Given the description of an element on the screen output the (x, y) to click on. 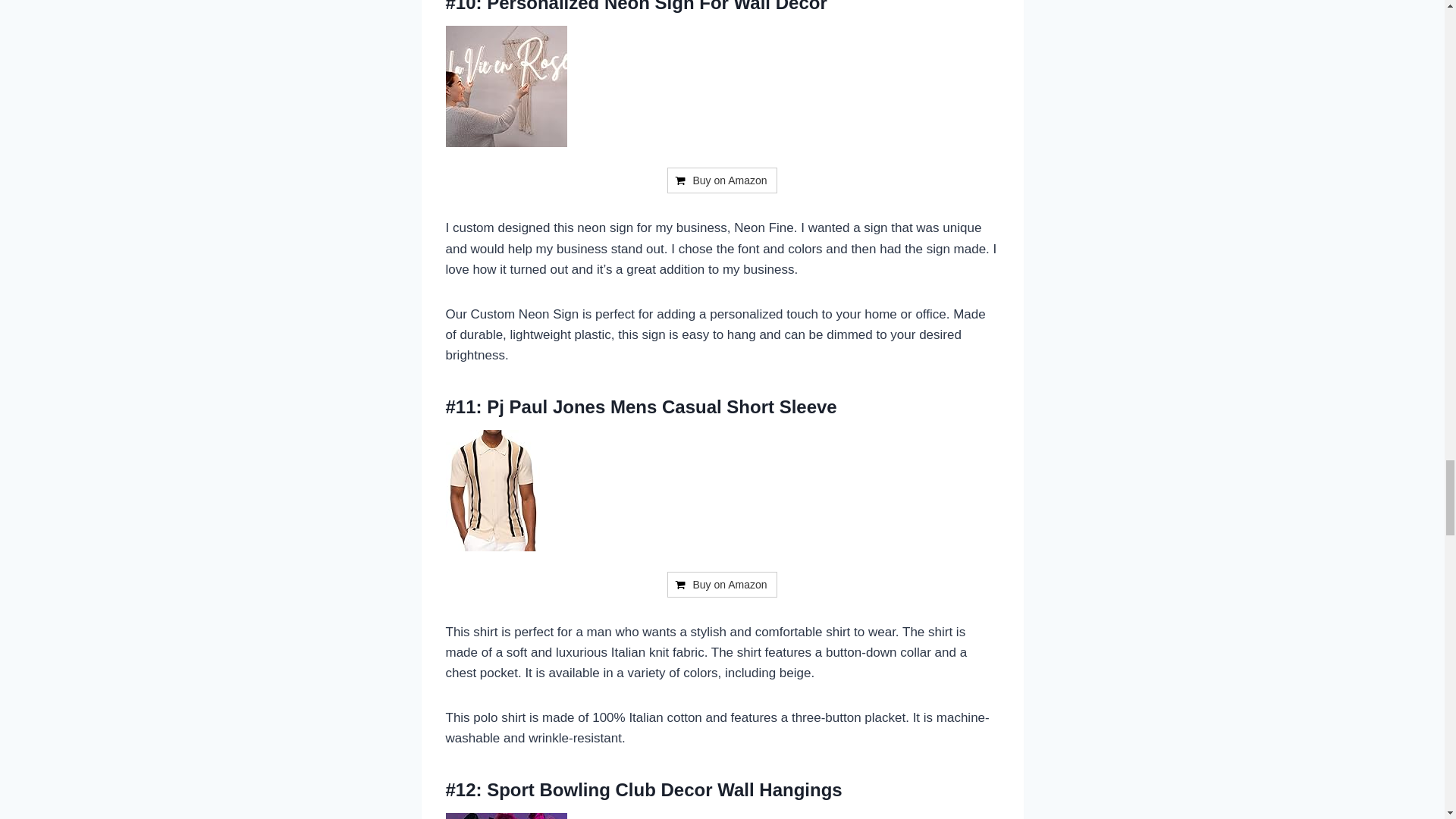
Buy on Amazon (721, 180)
Buy on Amazon (721, 584)
